Given the description of an element on the screen output the (x, y) to click on. 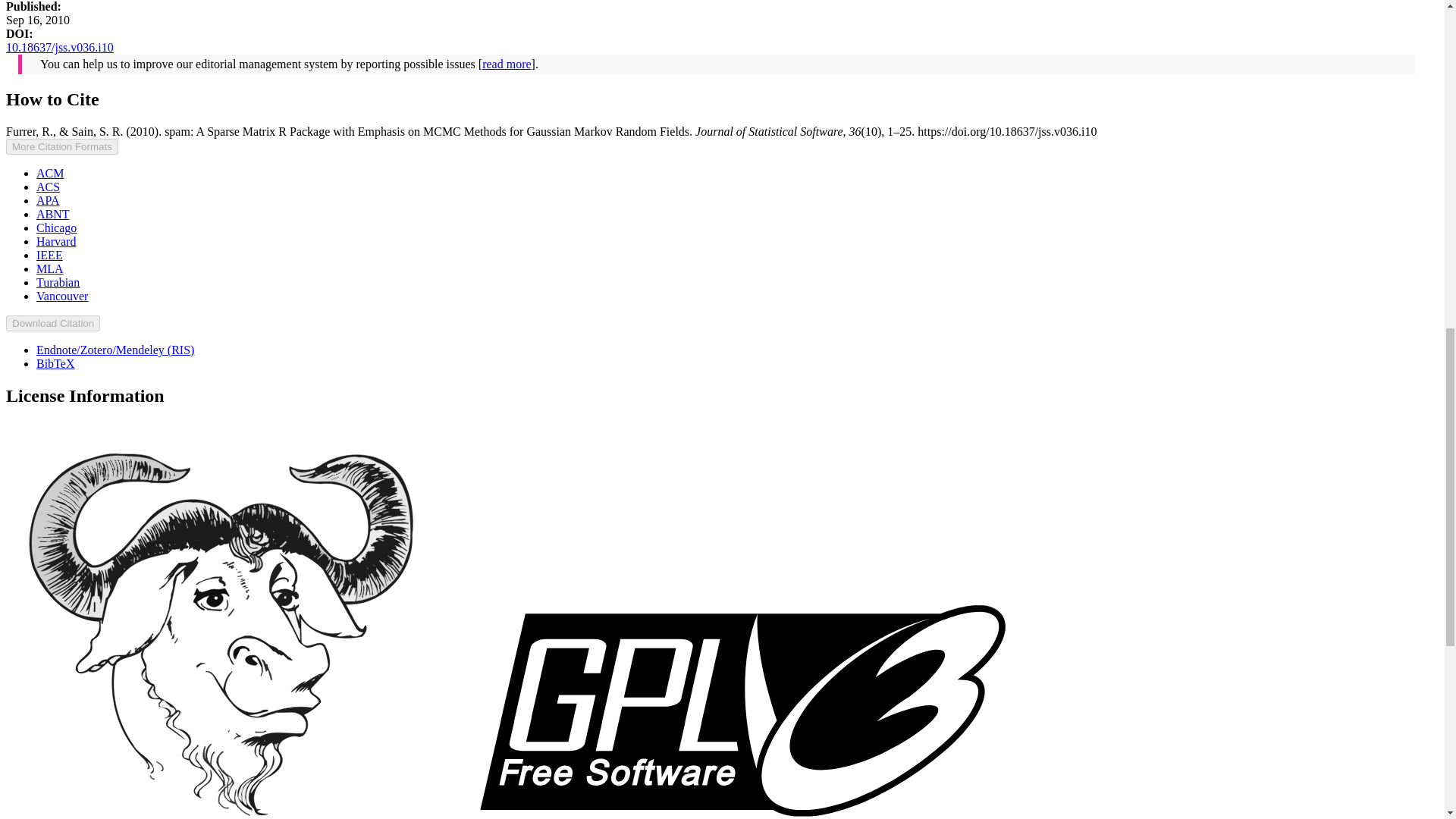
More Citation Formats (61, 146)
ABNT (52, 214)
Harvard (55, 241)
read more (506, 63)
IEEE (49, 254)
Chicago (56, 227)
APA (47, 200)
ACM (50, 173)
ACS (47, 186)
